Given the description of an element on the screen output the (x, y) to click on. 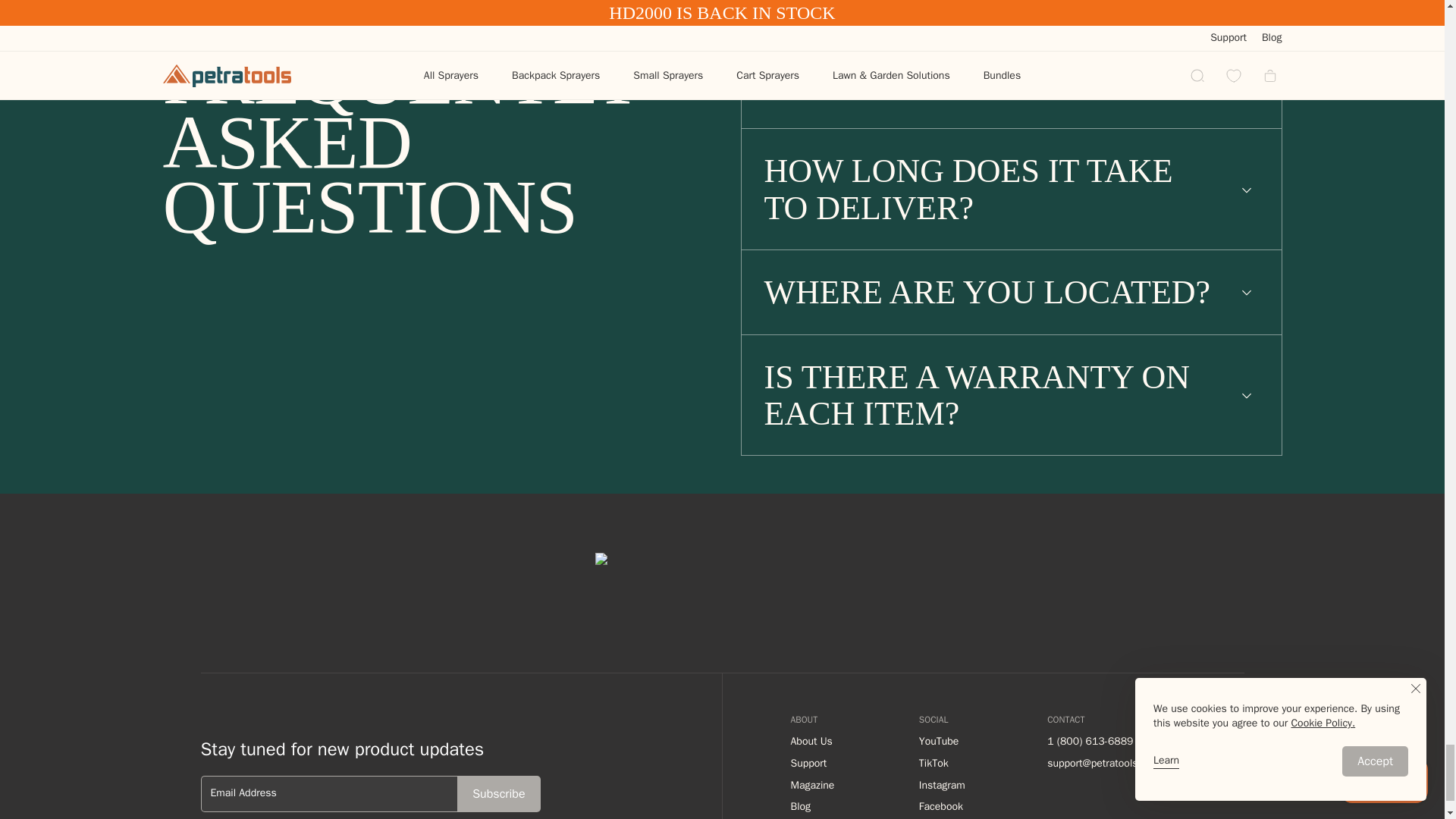
Subscribe (498, 793)
About Us (810, 741)
Support (808, 763)
